Given the description of an element on the screen output the (x, y) to click on. 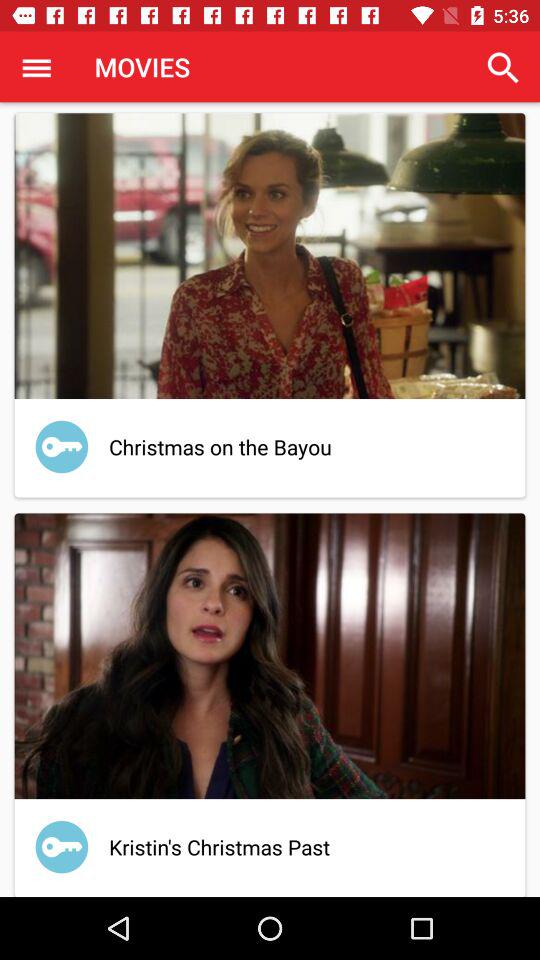
click on kristins christmas past which is at bottom of the page (269, 701)
click on first image from top (269, 256)
click on the key symbol (62, 846)
select the magnifier icon (503, 67)
click on the magnifier icon (503, 67)
select the first image on the web page (269, 256)
